Given the description of an element on the screen output the (x, y) to click on. 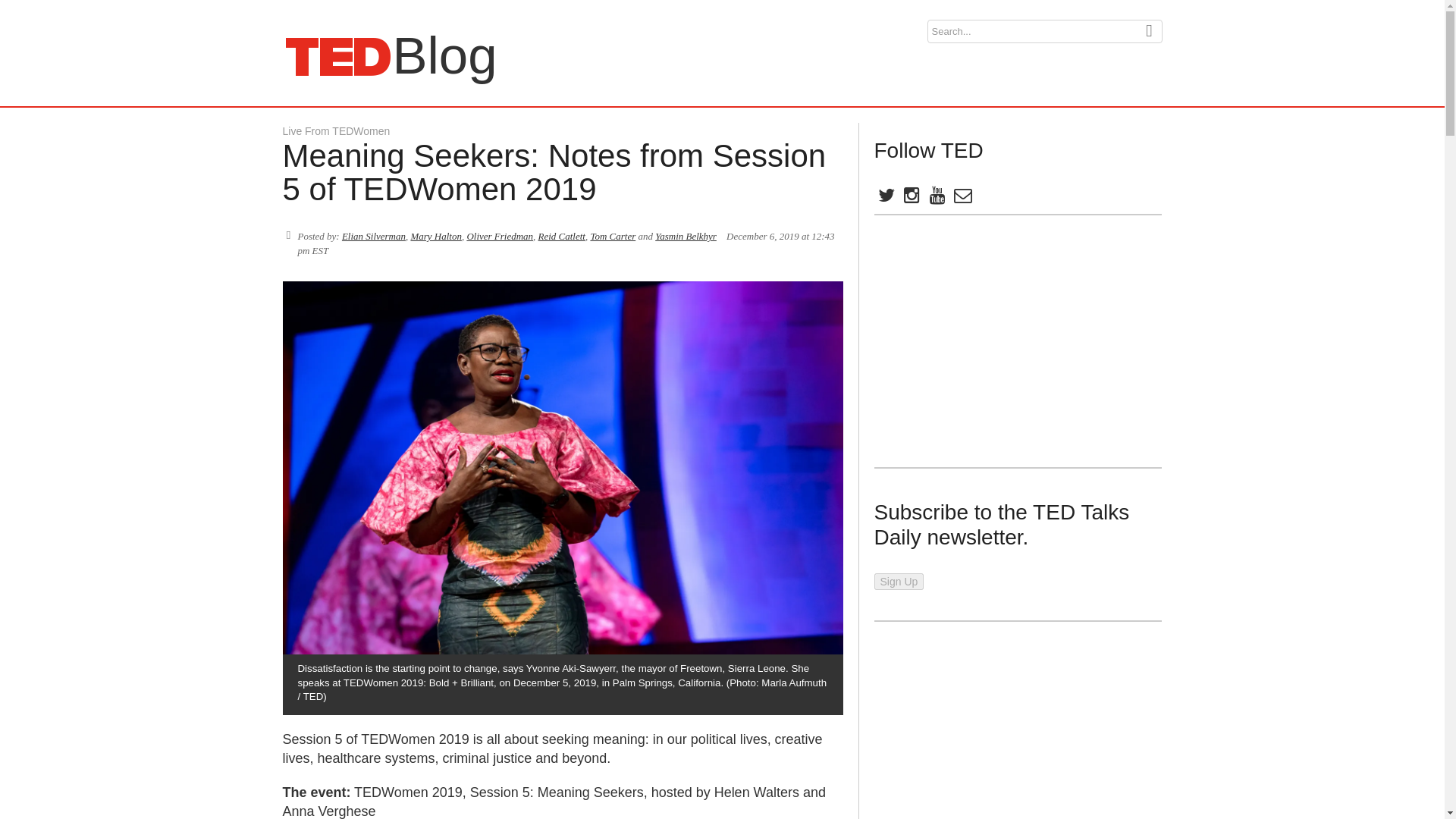
Posts by Yasmin Belkhyr (685, 235)
Posts by Mary Halton (435, 235)
Reid Catlett (561, 235)
TED Blog (337, 56)
Live From TEDWomen (337, 56)
YouTube (336, 131)
Tom Carter (935, 197)
Twitter (611, 235)
Instagram (884, 197)
